Given the description of an element on the screen output the (x, y) to click on. 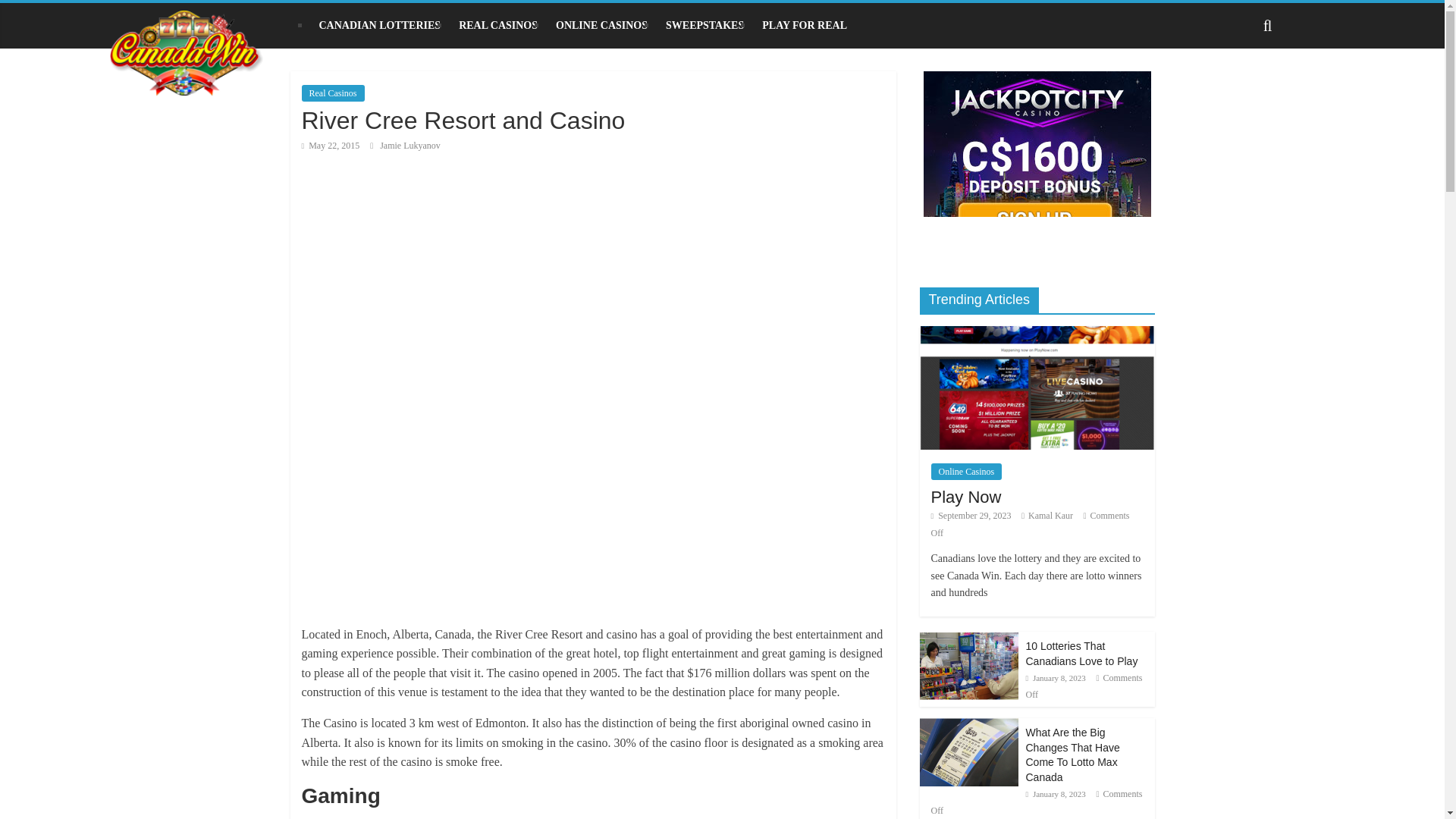
SWEEPSTAKES (704, 25)
Jamie Lukyanov (410, 145)
Play Now (1036, 333)
ONLINE CASINOS (601, 25)
10 Lotteries That Canadians Love to Play (967, 665)
What Are the Big Changes That Have Come To Lotto Max Canada (1072, 754)
January 8, 2023 (1054, 677)
Real Casinos (333, 93)
May 22, 2015 (330, 145)
REAL CASINOS (498, 25)
